Given the description of an element on the screen output the (x, y) to click on. 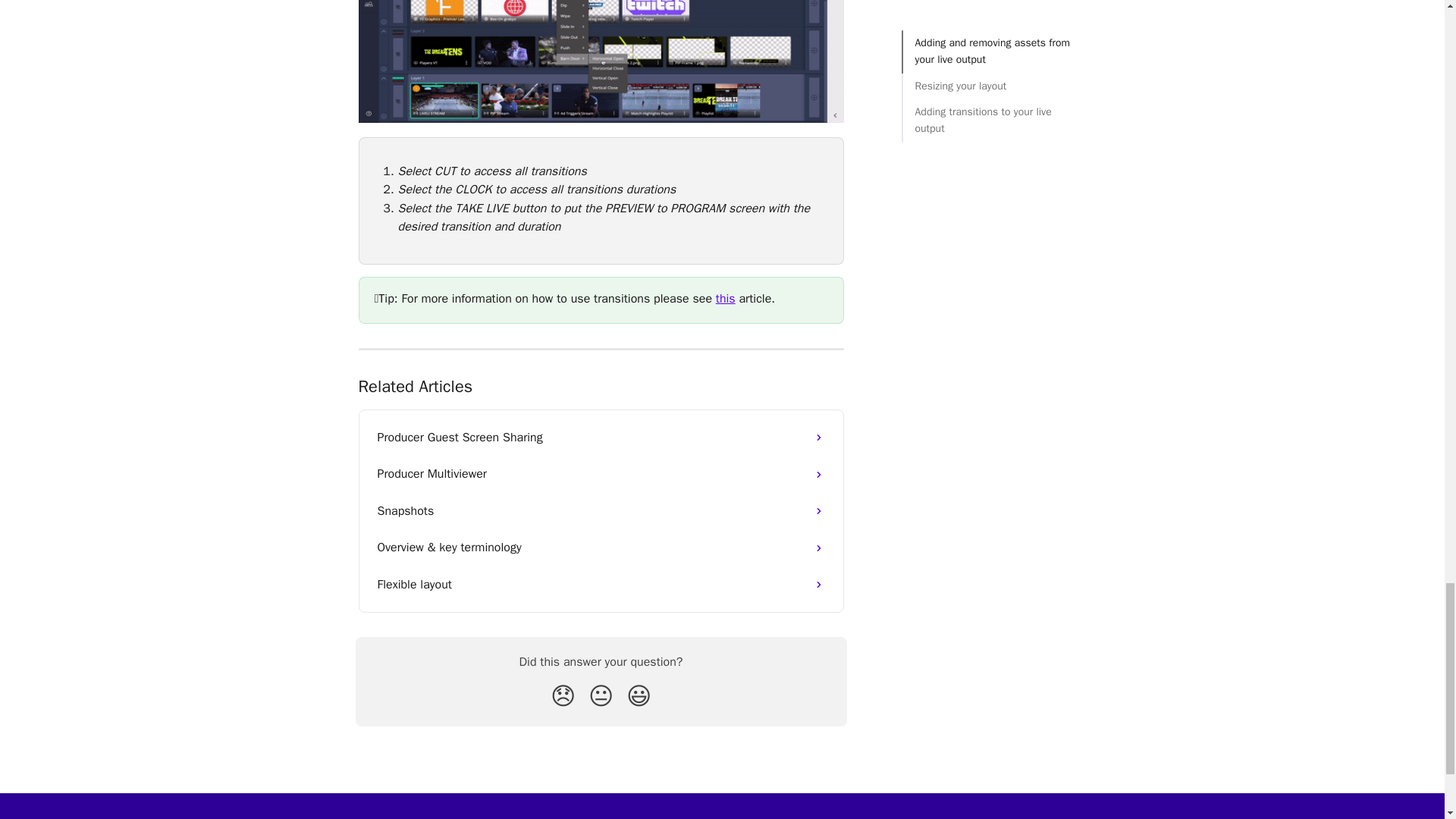
Flexible layout (601, 584)
this (725, 298)
Snapshots (601, 511)
Producer Multiviewer (601, 473)
Producer Guest Screen Sharing (601, 437)
